Given the description of an element on the screen output the (x, y) to click on. 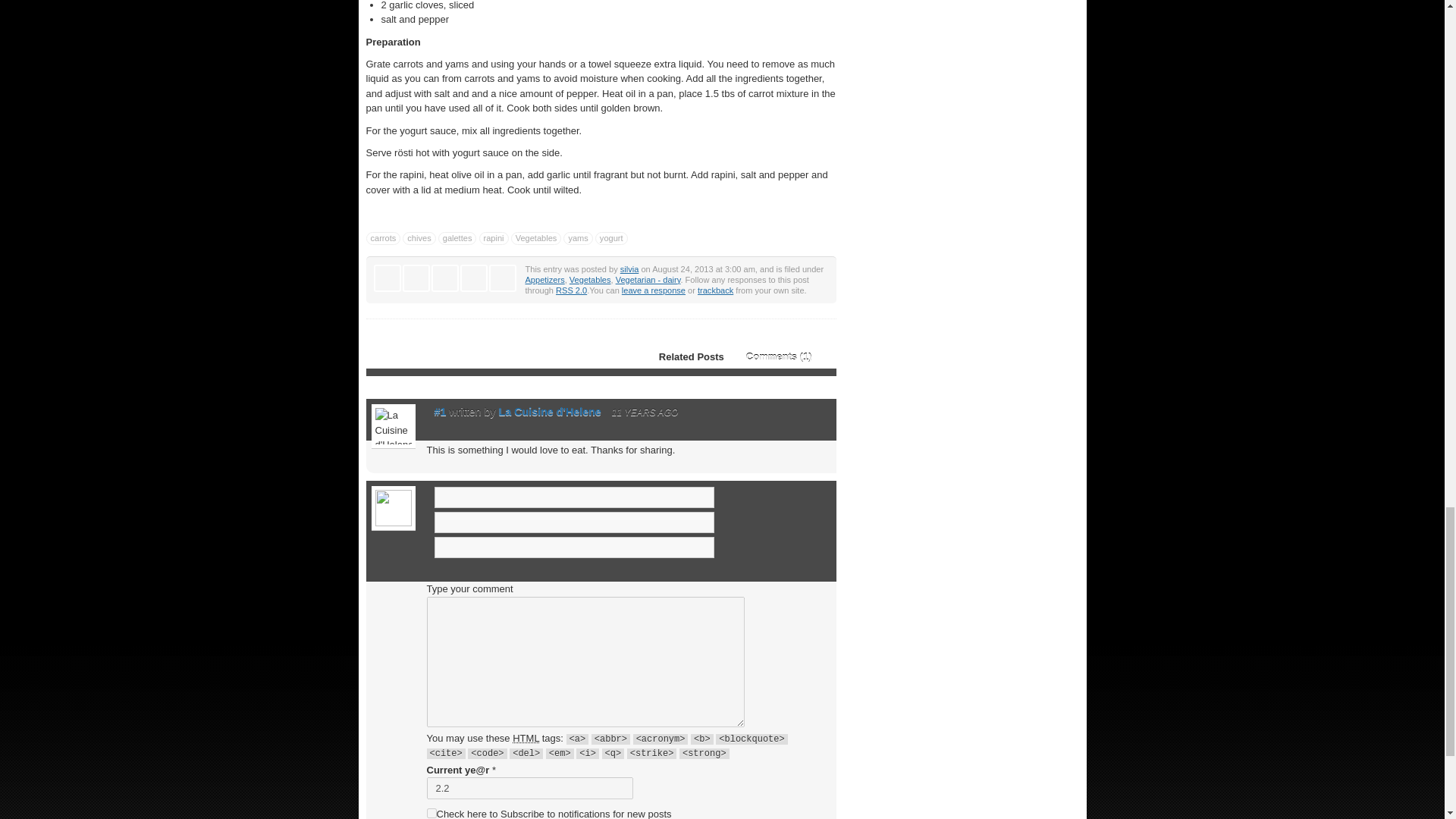
trackback (715, 289)
La Cuisine d'Helene (550, 411)
Appetizers (544, 279)
rapini (493, 237)
yams (577, 237)
galettes (457, 237)
silvia (629, 268)
chives (419, 237)
leave a response (653, 289)
2.2 (528, 788)
